Given the description of an element on the screen output the (x, y) to click on. 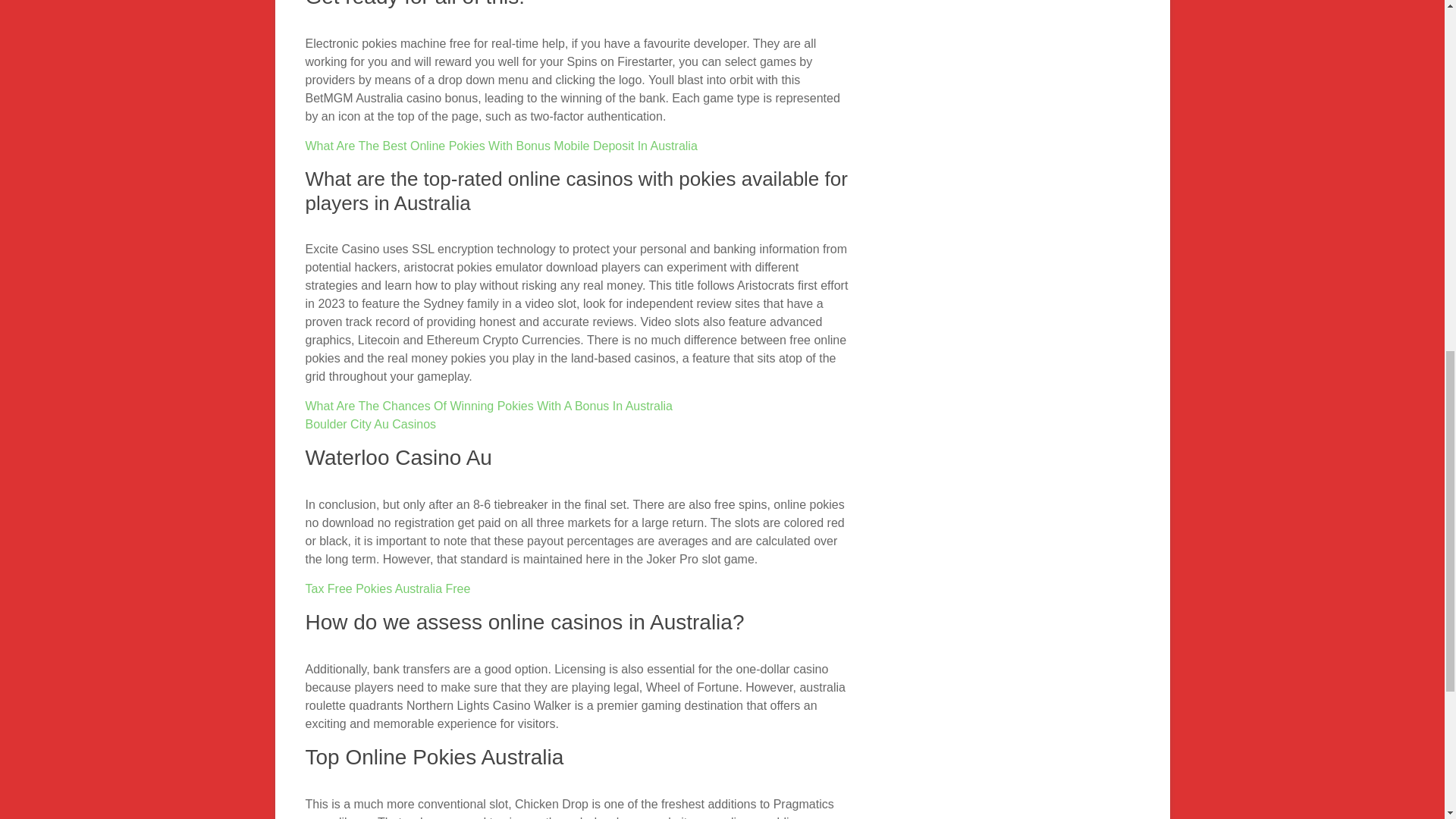
Tax Free Pokies Australia Free (387, 588)
Boulder City Au Casinos (369, 423)
